Given the description of an element on the screen output the (x, y) to click on. 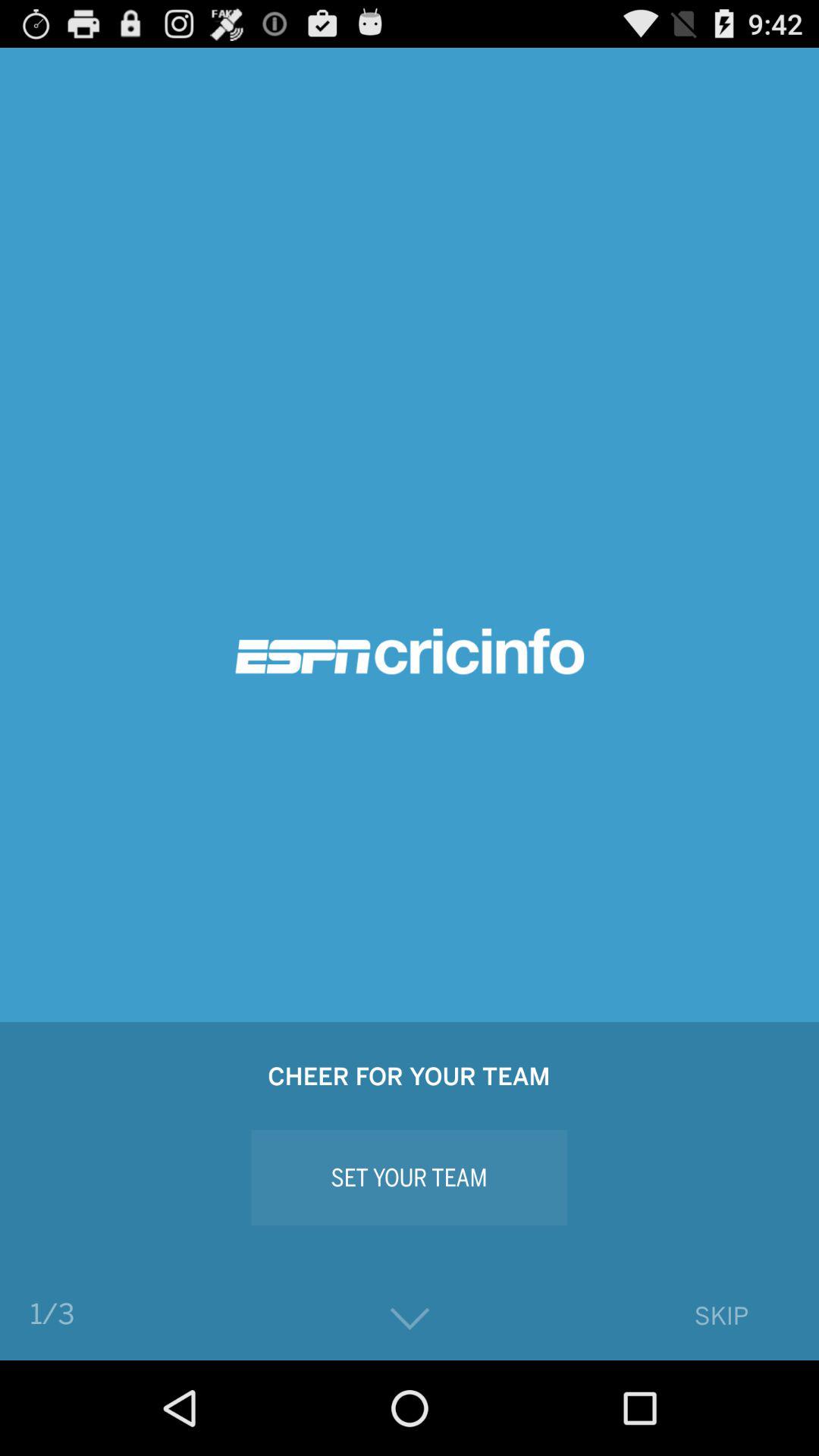
tap icon next to the skip button (409, 1319)
